Given the description of an element on the screen output the (x, y) to click on. 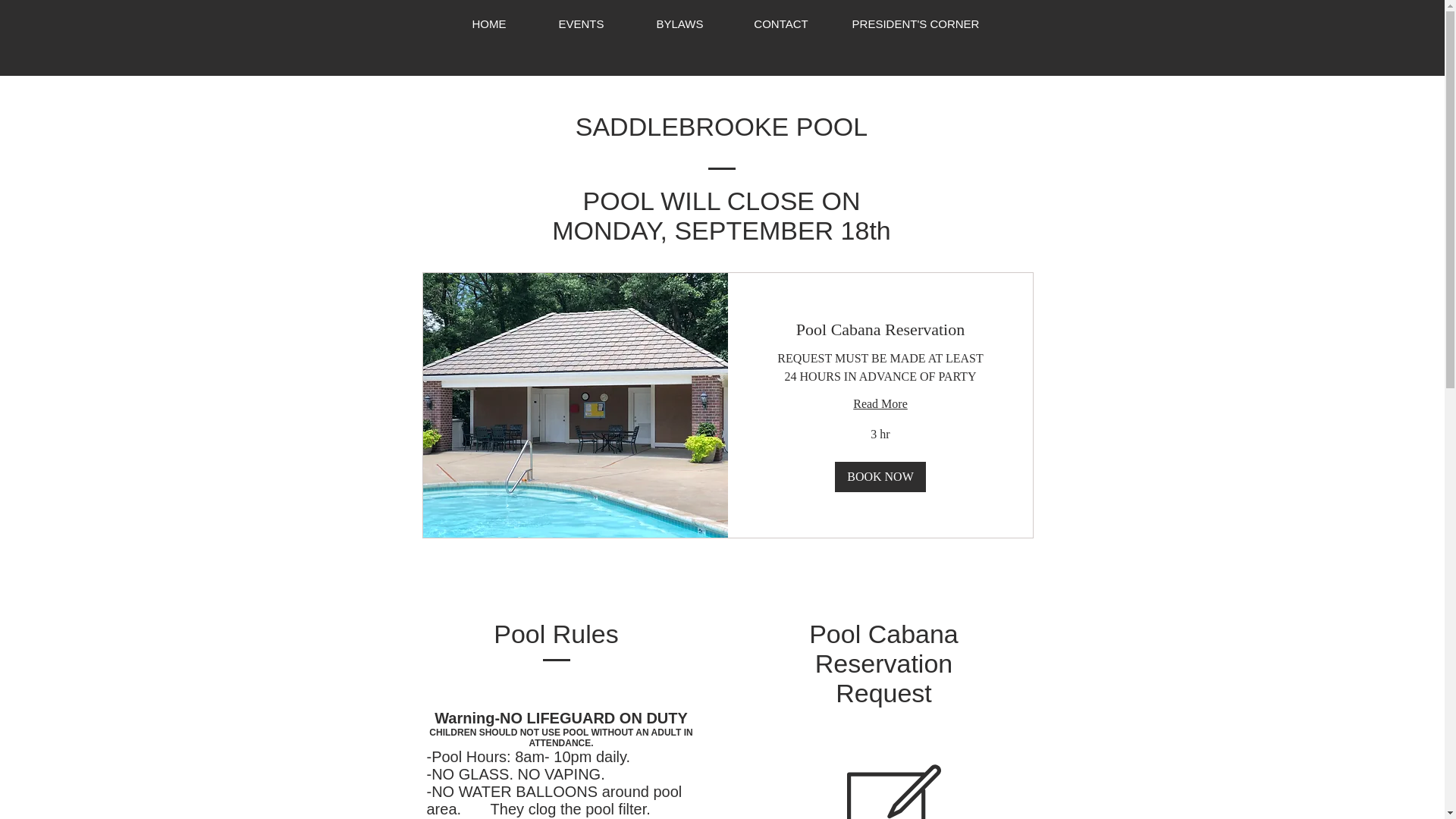
Pool Cabana Reservation (880, 329)
CONTACT (780, 24)
EVENTS (580, 24)
HOME (488, 24)
Read More (880, 403)
BYLAWS (678, 24)
BOOK NOW (880, 476)
PRESIDENT'S CORNER (915, 24)
